Given the description of an element on the screen output the (x, y) to click on. 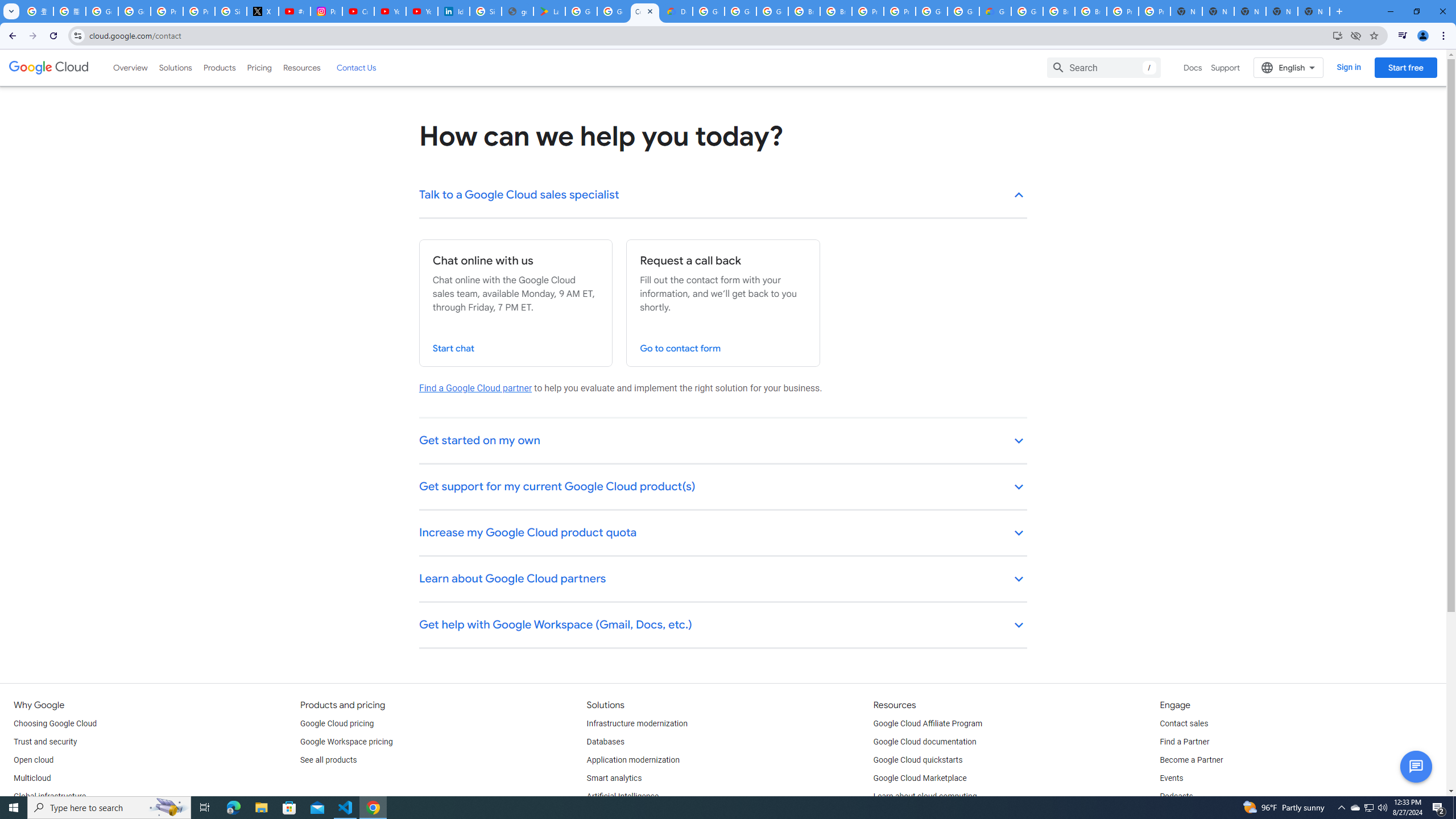
Sign in - Google Accounts (230, 11)
Browse Chrome as a guest - Computer - Google Chrome Help (1059, 11)
Solutions (175, 67)
Find a Partner (1183, 742)
Google Cloud quickstarts (917, 760)
X (262, 11)
Google Cloud (48, 67)
Talk to a Google Cloud sales specialist keyboard_arrow_up (723, 195)
Learn about Google Cloud partners keyboard_arrow_down (723, 579)
Application modernization (632, 760)
Pricing (259, 67)
Multicloud (31, 778)
Products (218, 67)
Install Google Cloud (1336, 35)
